Given the description of an element on the screen output the (x, y) to click on. 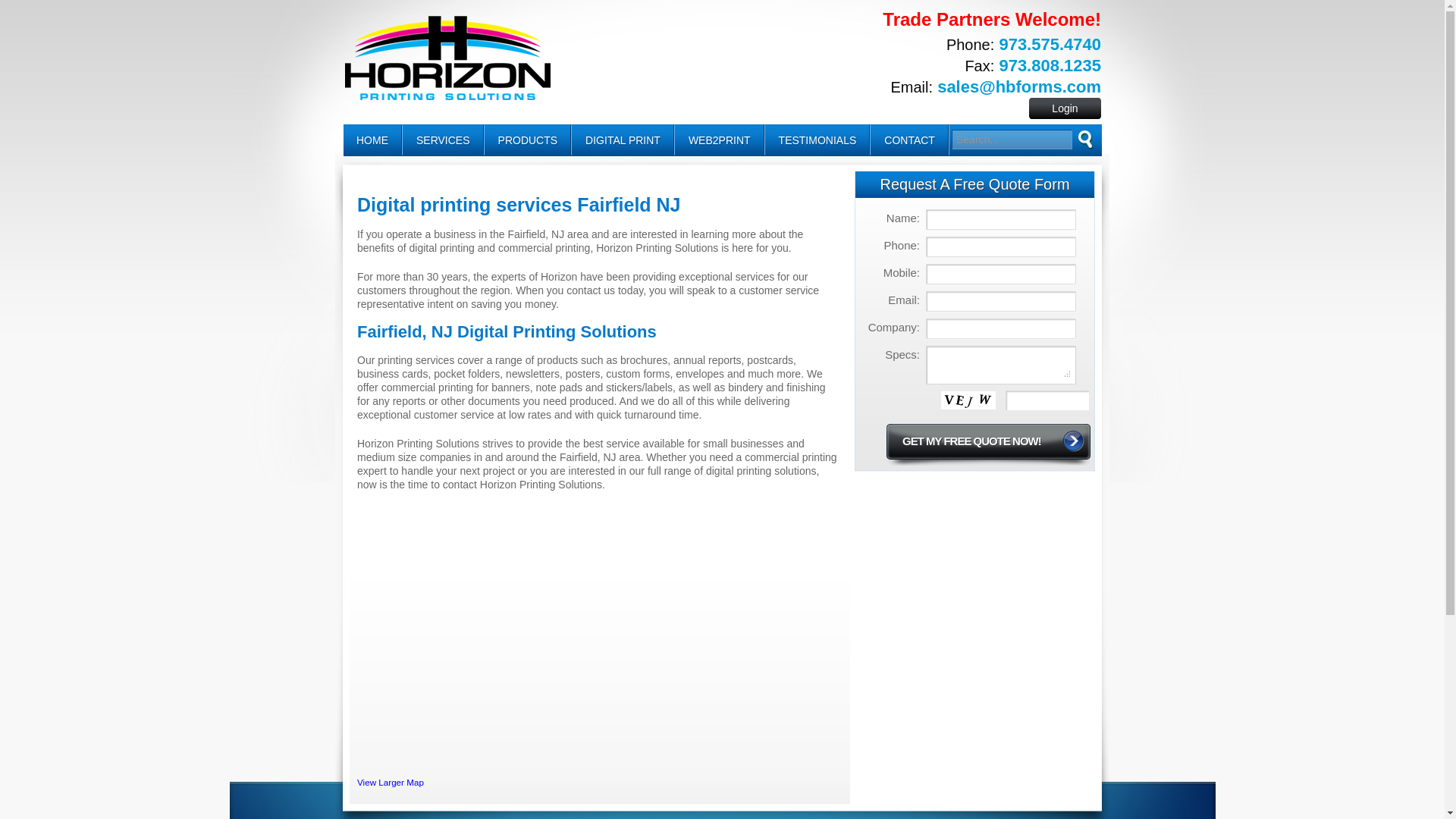
View Larger Map (389, 782)
CONTACT (908, 140)
PRODUCTS (527, 140)
get my free quote now! (987, 445)
SERVICES (443, 140)
Search... (1011, 139)
DIGITAL PRINT (622, 140)
get my free quote now! (987, 445)
HOME (372, 140)
WEB2PRINT (718, 140)
